Given the description of an element on the screen output the (x, y) to click on. 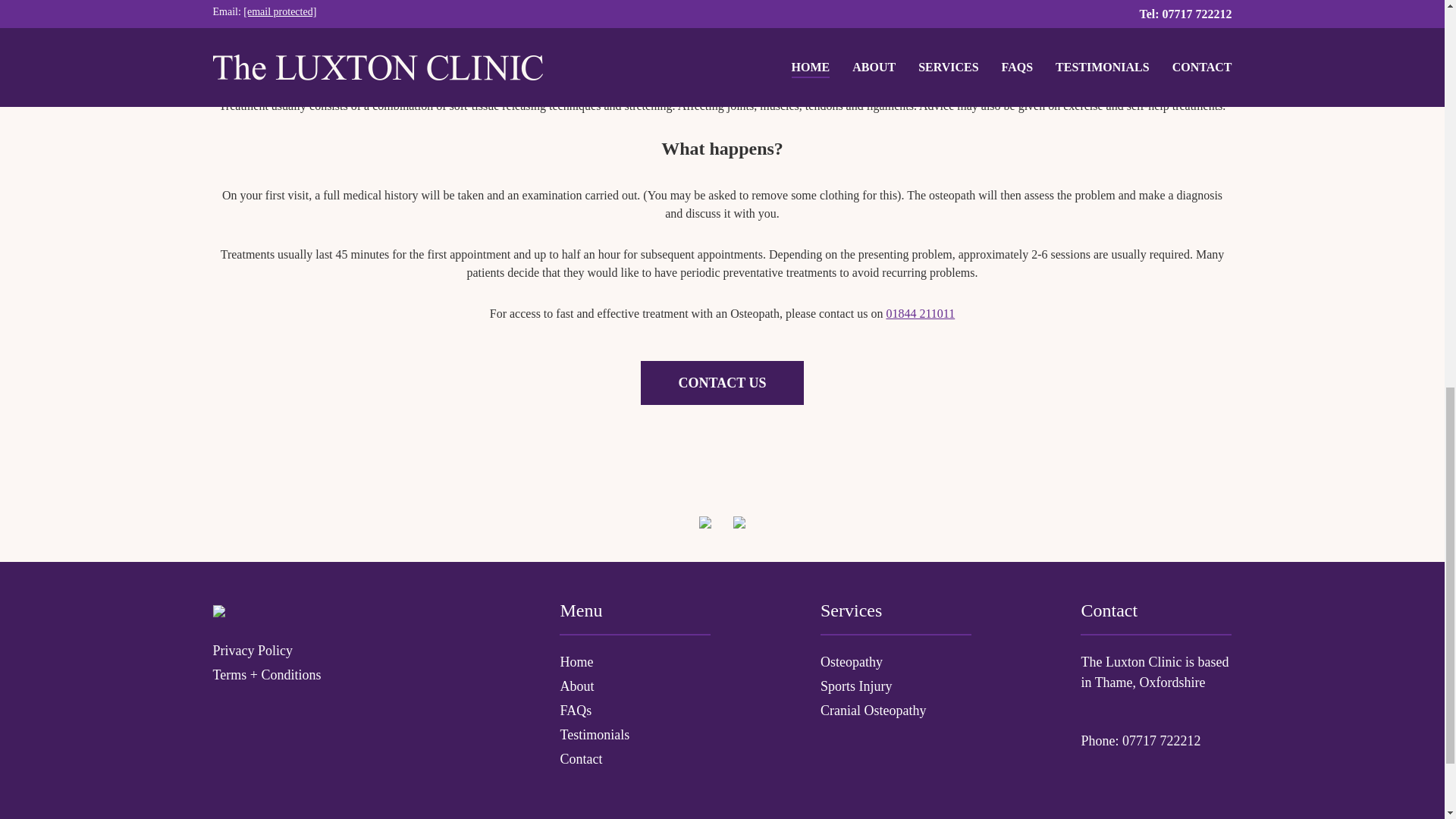
CONTACT US (722, 382)
Home (634, 661)
Sports Injury (896, 686)
Testimonials (634, 734)
About (634, 686)
Osteopathy (896, 661)
Privacy Policy (330, 650)
FAQs (634, 711)
Contact (634, 759)
Cranial Osteopathy (896, 711)
